Given the description of an element on the screen output the (x, y) to click on. 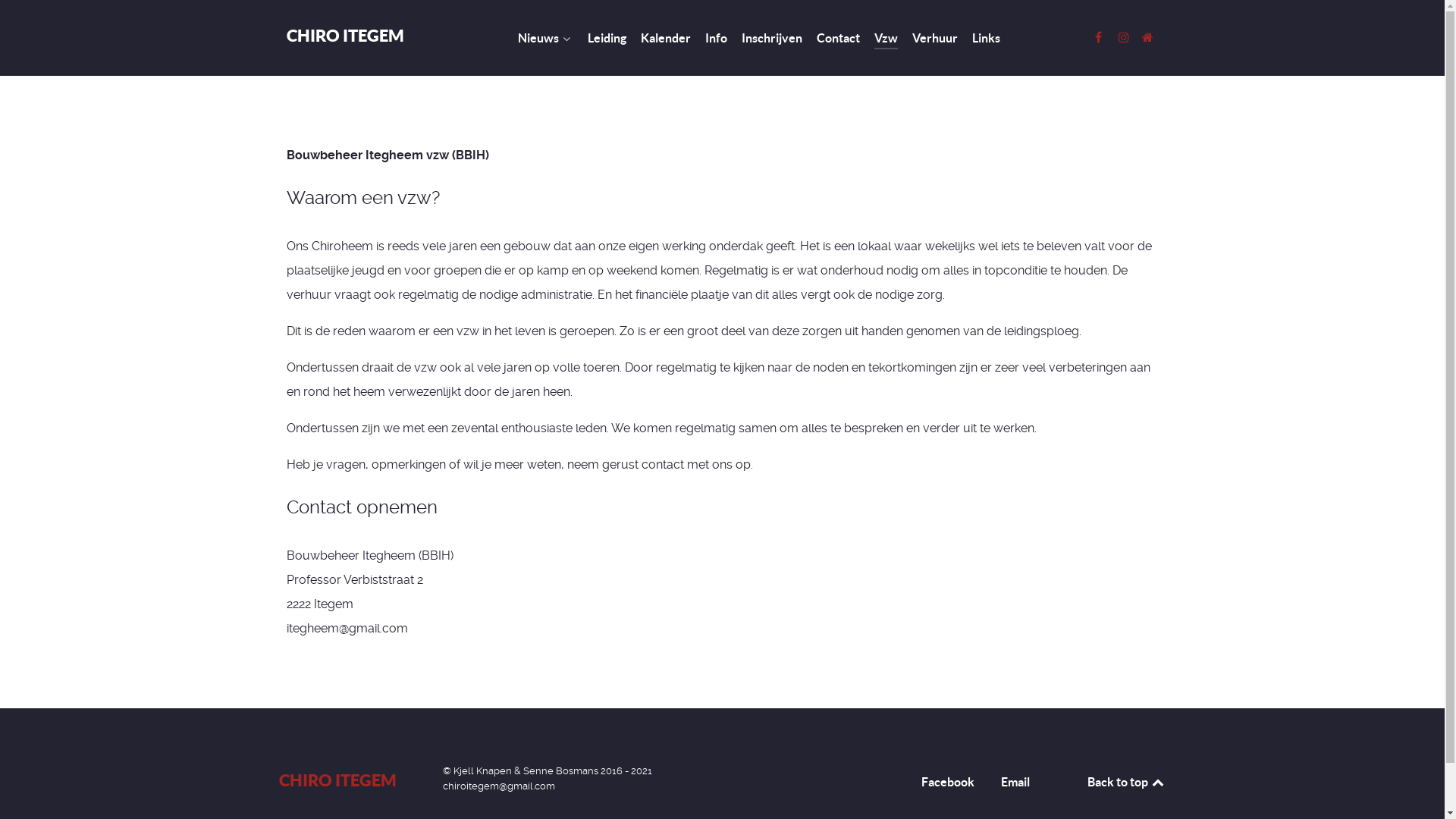
Email Element type: text (1015, 784)
CHIRO ITEGEM Element type: text (337, 779)
CHIRO ITEGEM Element type: text (345, 34)
Back to top Element type: text (1126, 781)
Facebook Element type: text (946, 784)
Links Element type: text (986, 39)
Info Element type: text (716, 39)
Nieuws Element type: text (544, 39)
Vzw Element type: text (885, 39)
Kalender Element type: text (665, 39)
Inschrijven Element type: text (771, 39)
Leiding Element type: text (605, 39)
Contact Element type: text (837, 39)
Verhuur Element type: text (934, 39)
